Given the description of an element on the screen output the (x, y) to click on. 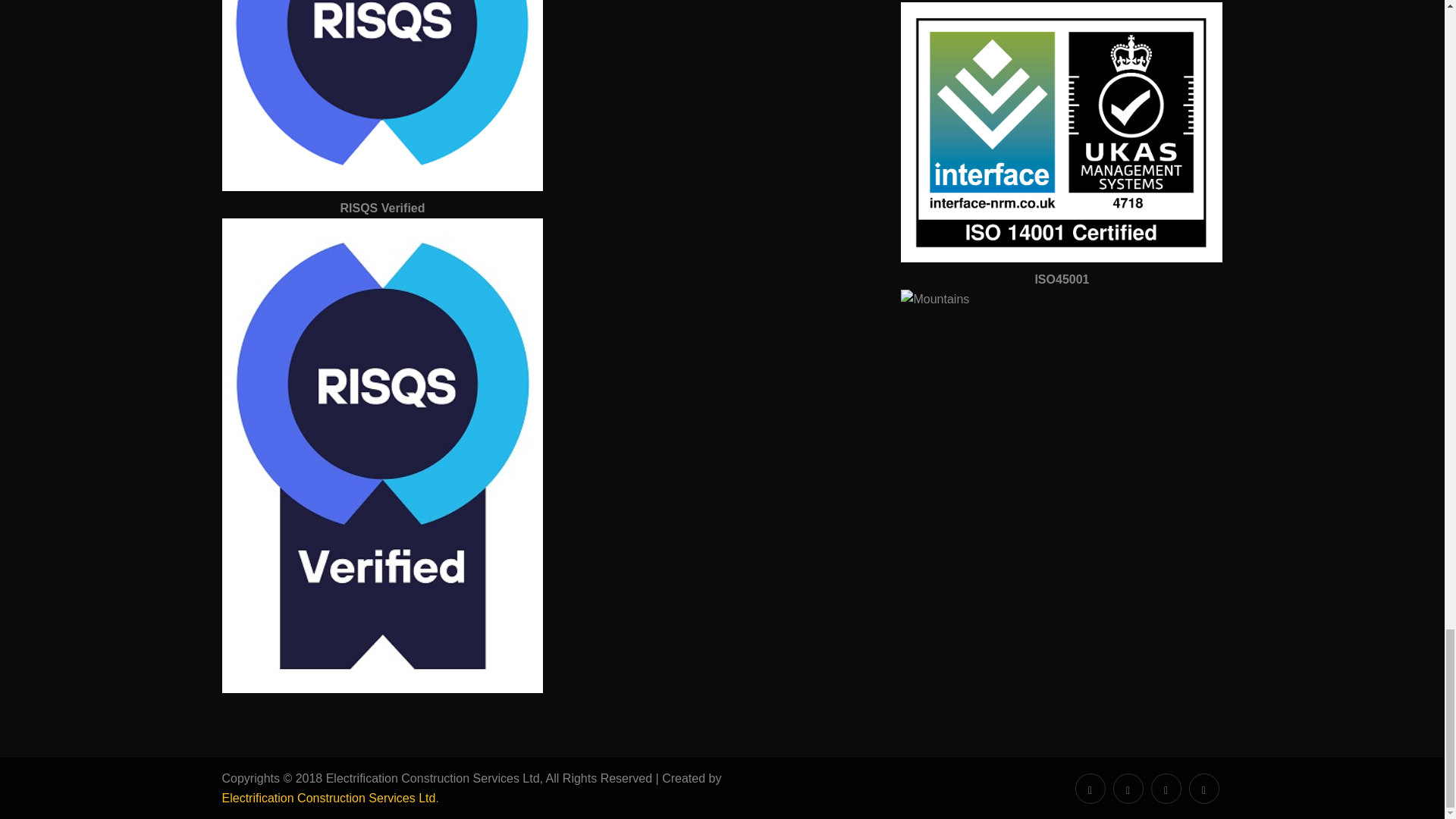
Electrification Construction Services Ltd (328, 797)
